Given the description of an element on the screen output the (x, y) to click on. 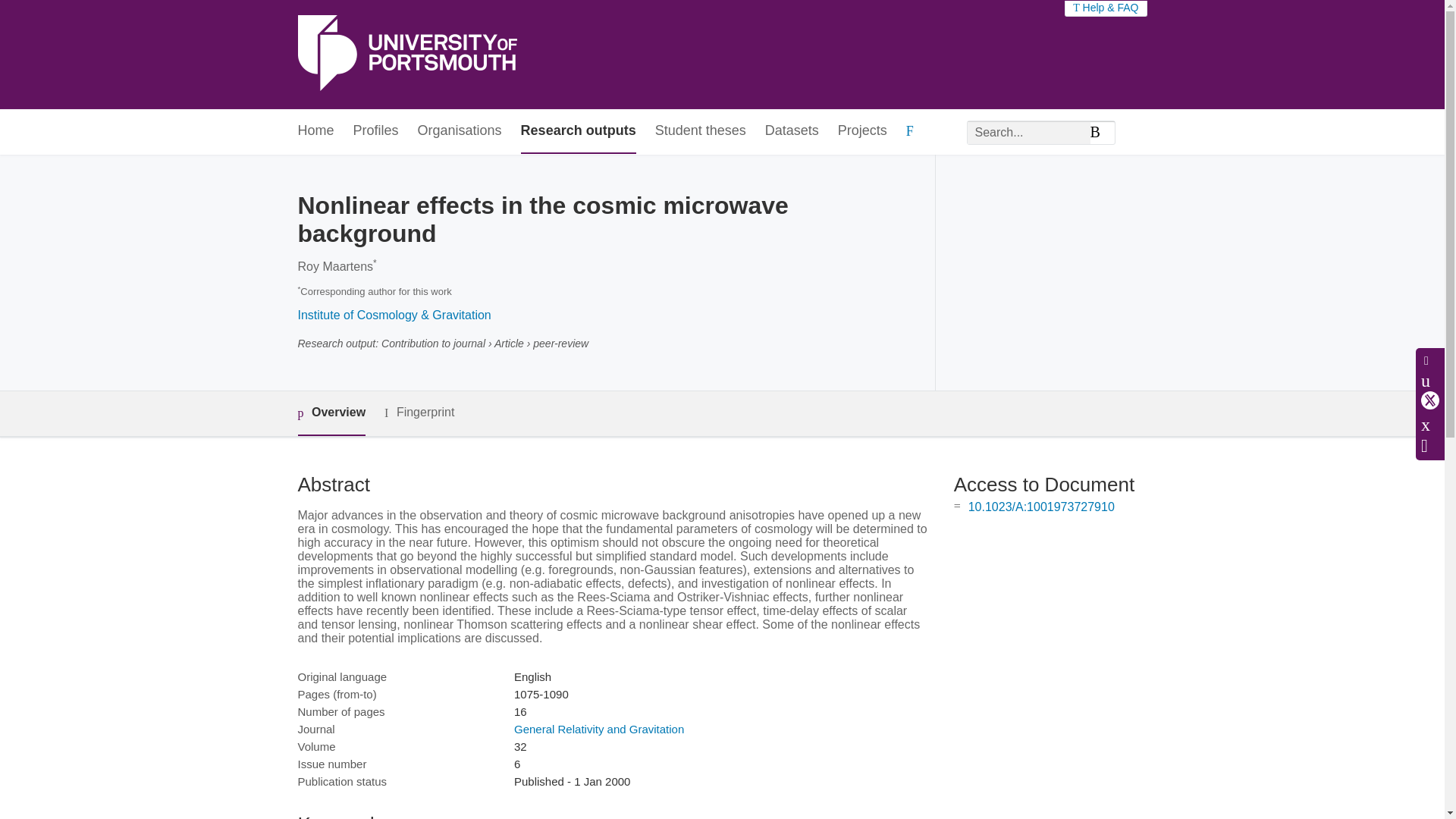
Organisations (459, 130)
Overview (331, 413)
University of Portsmouth Home (406, 54)
Research outputs (578, 130)
Profiles (375, 130)
Datasets (791, 130)
General Relativity and Gravitation (598, 728)
Student theses (700, 130)
Projects (862, 130)
